Given the description of an element on the screen output the (x, y) to click on. 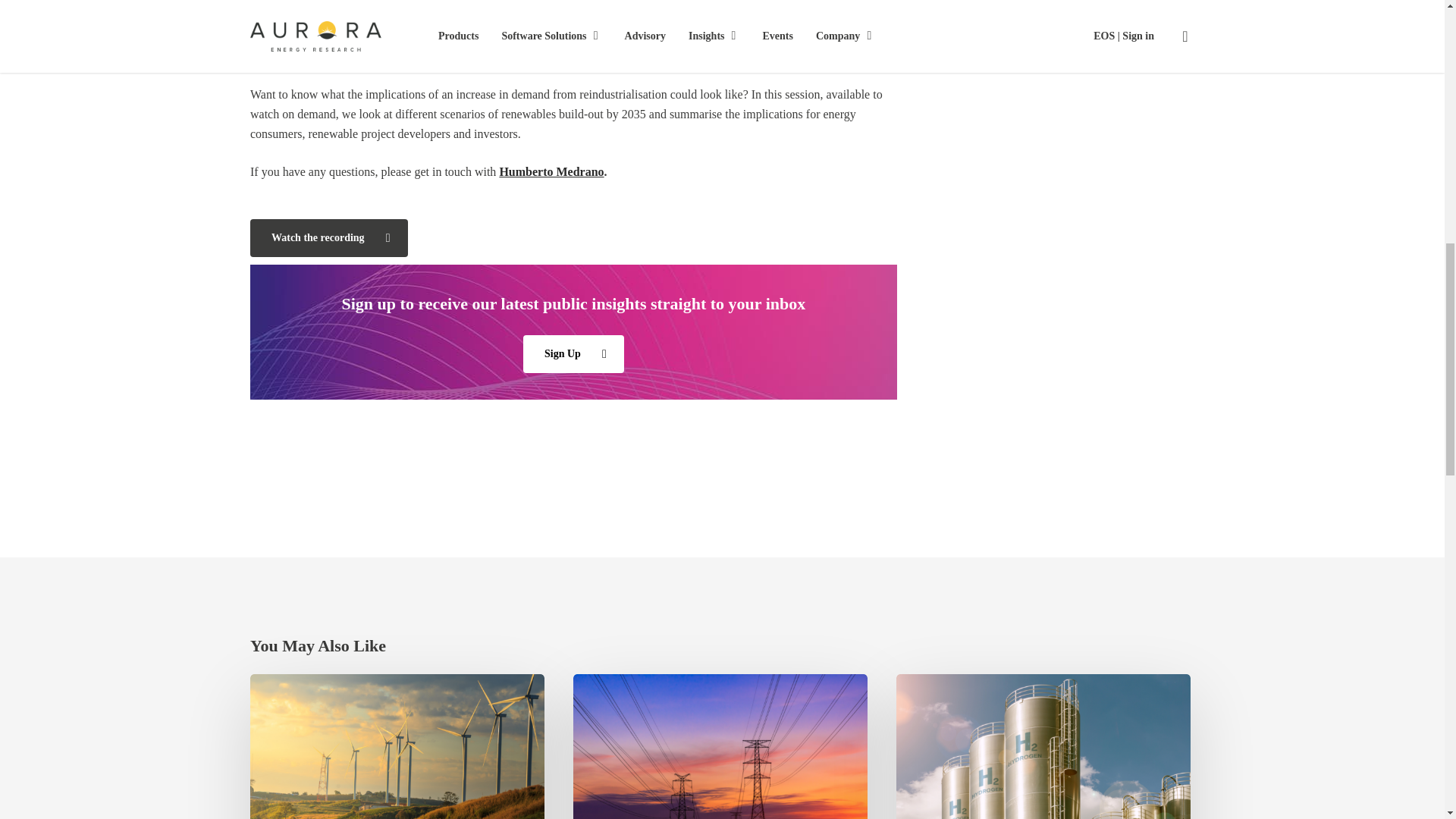
Sign Up (573, 353)
Watch the recording (328, 238)
Humberto Medrano (551, 171)
